Given the description of an element on the screen output the (x, y) to click on. 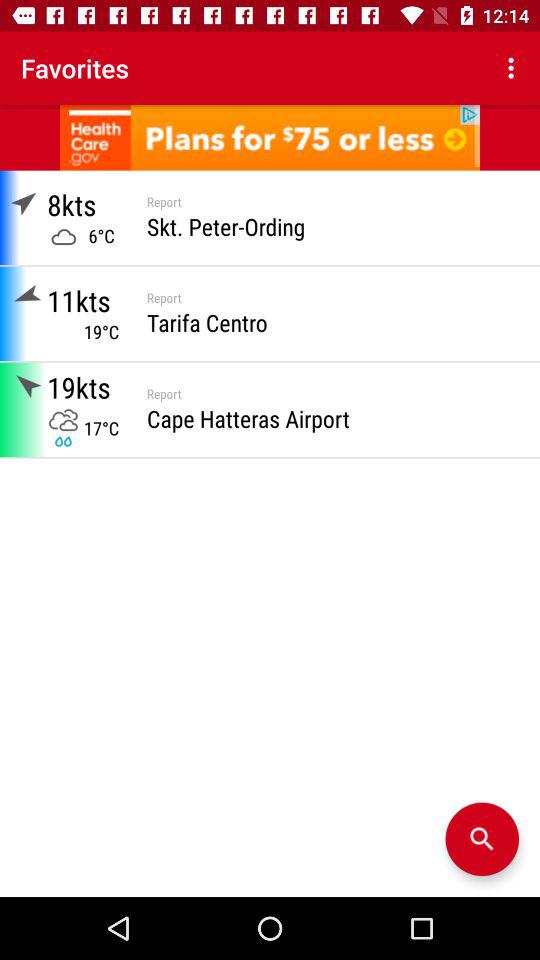
select this advertisement (270, 137)
